Given the description of an element on the screen output the (x, y) to click on. 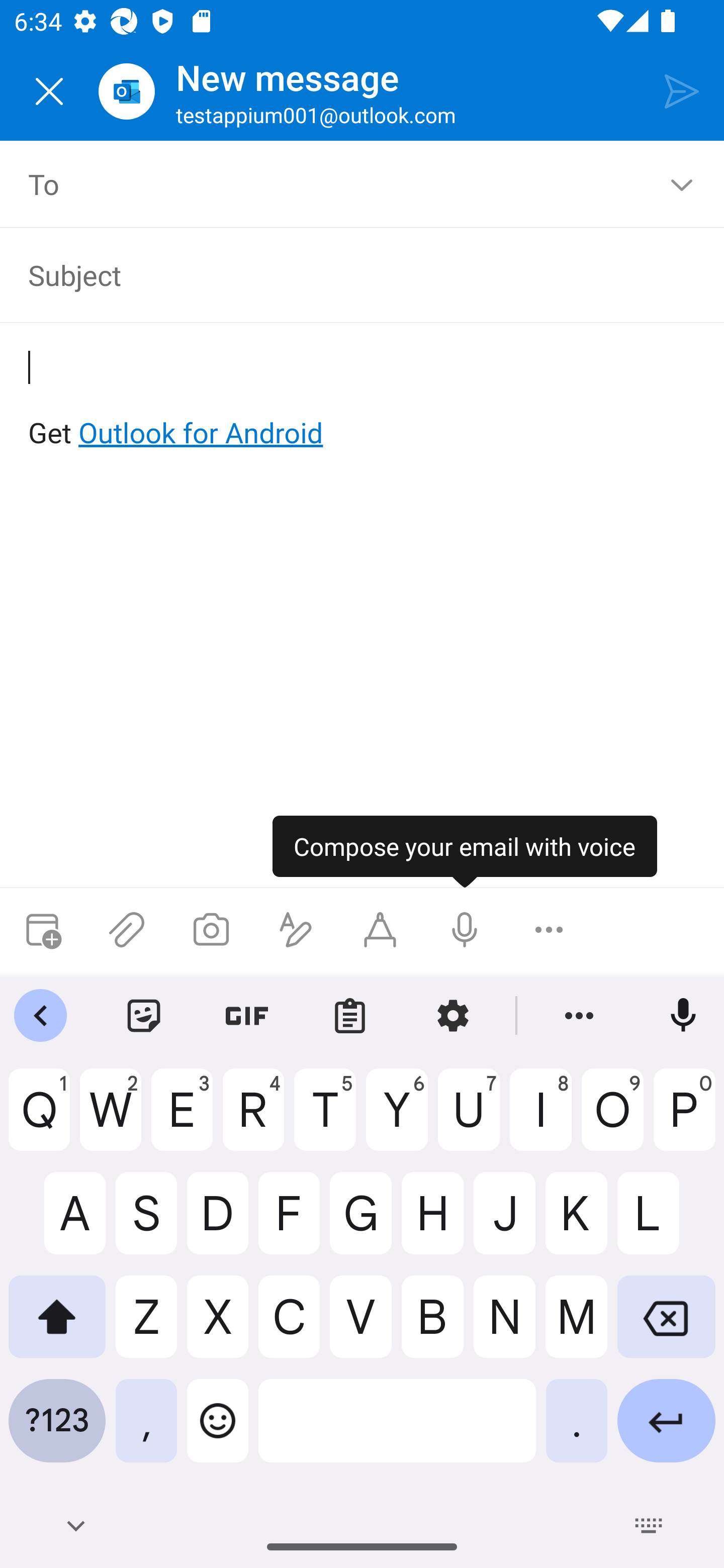
Close (49, 91)
Send (681, 90)
Subject (347, 274)


Get Outlook for Android (363, 400)
Attach meeting (42, 929)
Attach files (126, 929)
Take a photo (210, 929)
Show formatting options (295, 929)
Start Ink compose (380, 929)
Dictation (464, 929)
More options (548, 929)
